Given the description of an element on the screen output the (x, y) to click on. 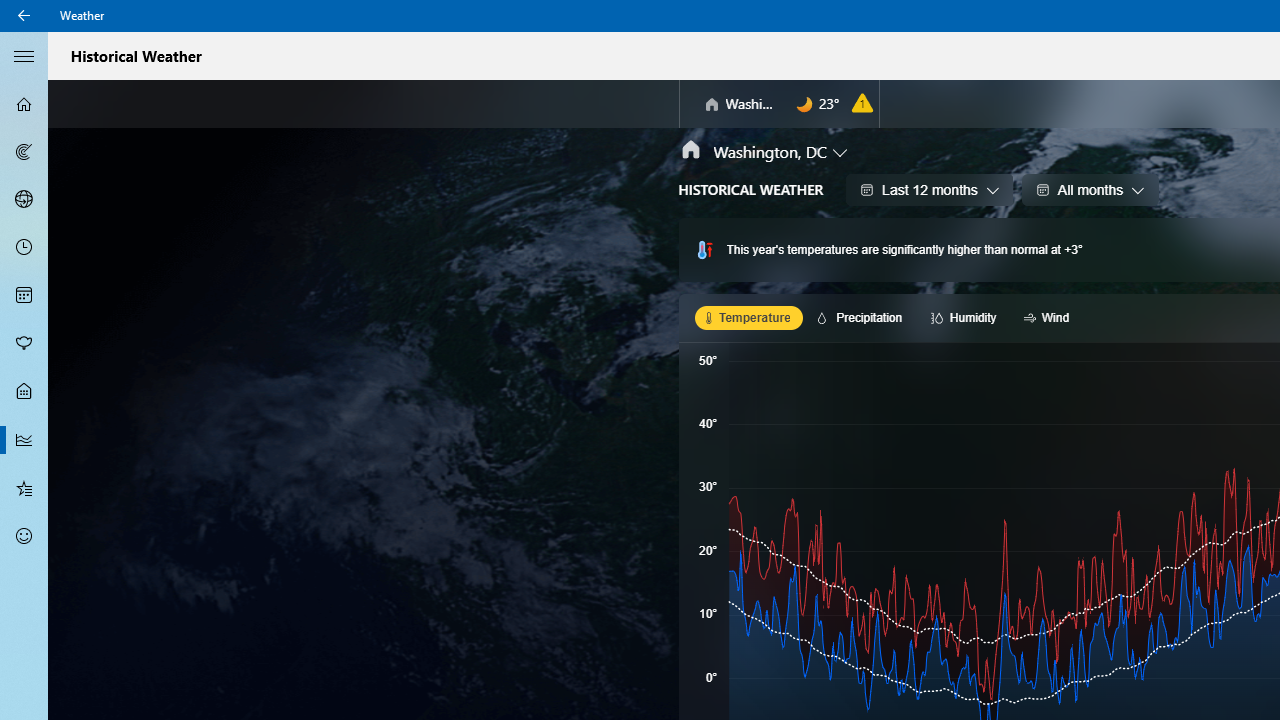
Forecast - Not Selected (24, 103)
Hourly Forecast - Not Selected (24, 247)
Collapse Navigation (24, 55)
3D Maps - Not Selected (24, 199)
Life - Not Selected (24, 391)
Monthly Forecast - Not Selected (24, 295)
Send Feedback - Not Selected (24, 535)
Maps - Not Selected (24, 151)
Historical Weather - Not Selected (24, 439)
Back (24, 15)
Send Feedback - Not Selected (24, 535)
Forecast - Not Selected (24, 103)
Maps - Not Selected (24, 151)
Favorites - Not Selected (24, 487)
Pollen - Not Selected (24, 343)
